Given the description of an element on the screen output the (x, y) to click on. 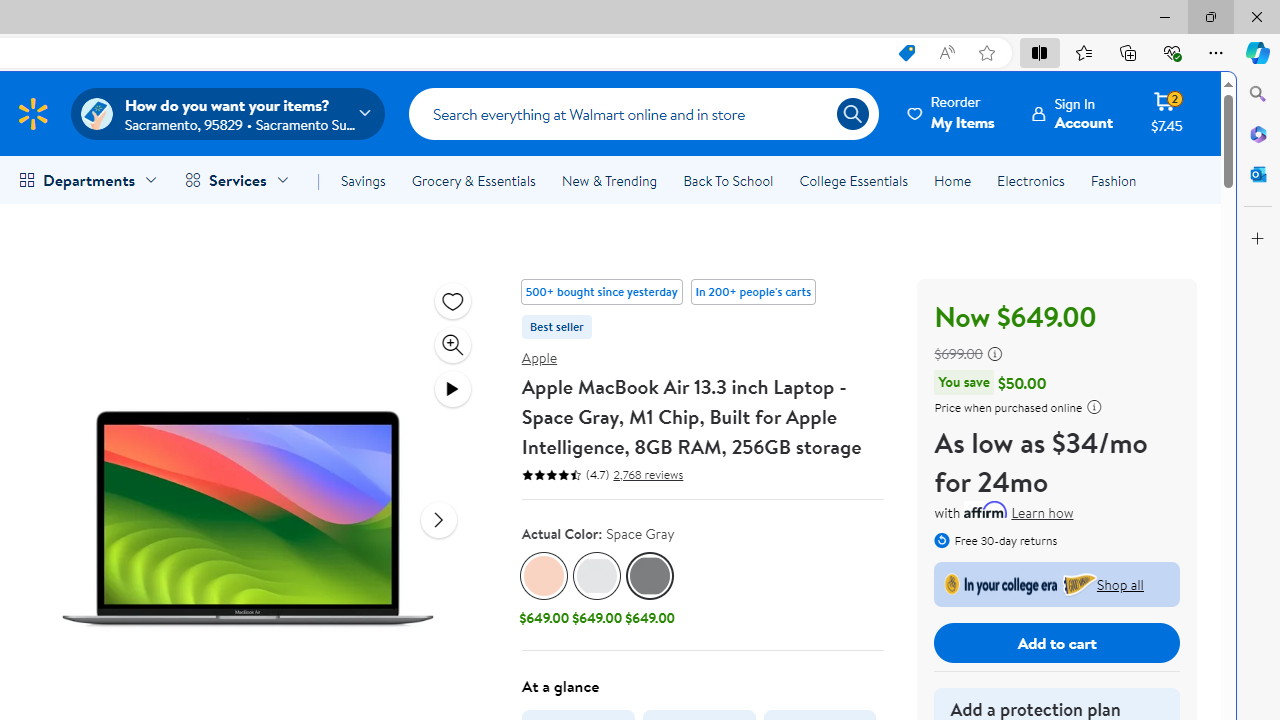
Back To School (728, 180)
learn more about strikethrough prices (994, 353)
2,768 reviews (646, 474)
View video (452, 388)
Zoom image modal (452, 344)
Fashion (1113, 180)
Affirm (985, 509)
